Given the description of an element on the screen output the (x, y) to click on. 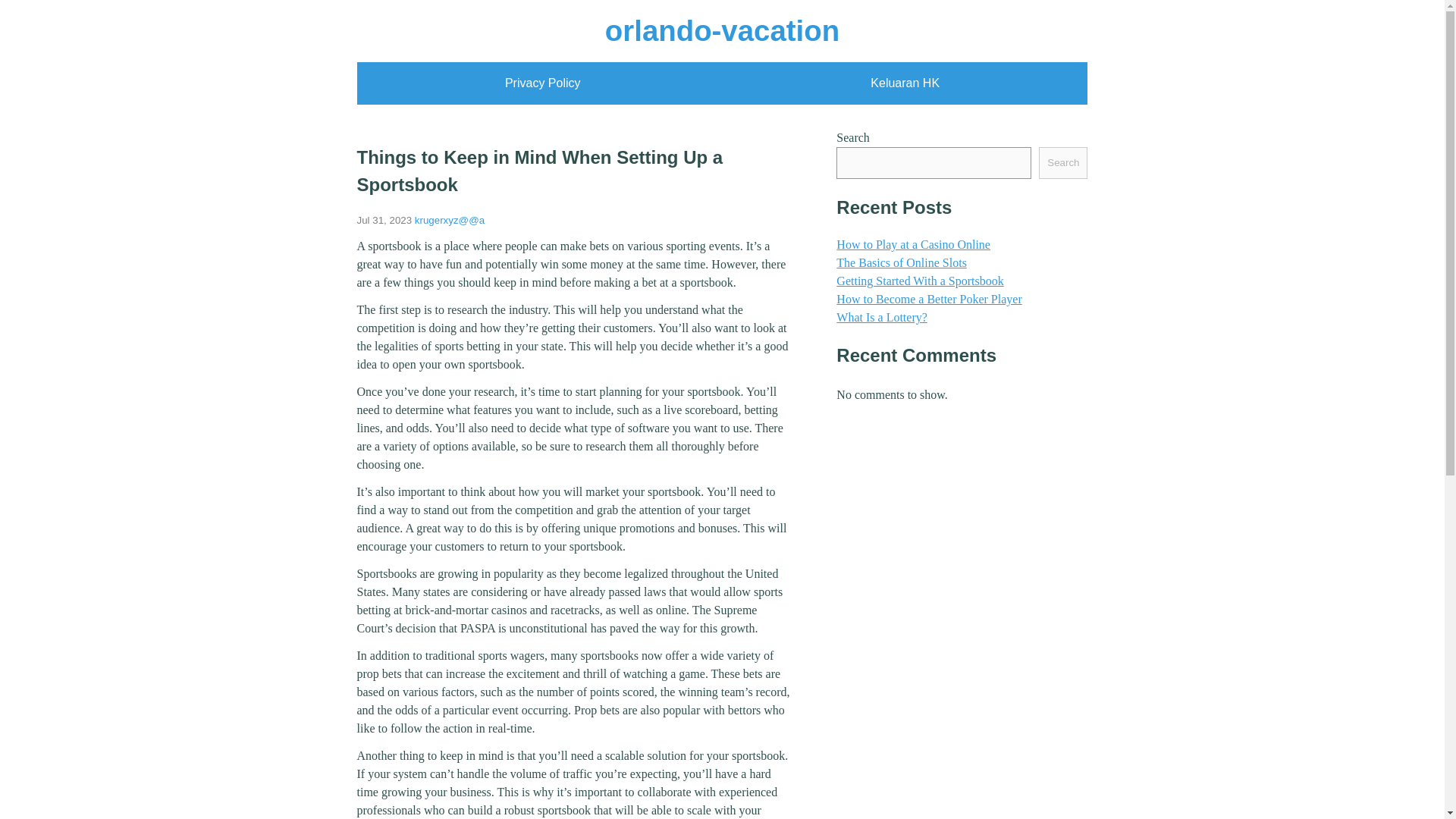
Privacy Policy (542, 82)
Search (1063, 163)
Keluaran HK (904, 82)
orlando-vacation (722, 30)
How to Play at a Casino Online (912, 244)
What Is a Lottery? (881, 317)
How to Become a Better Poker Player (928, 298)
Getting Started With a Sportsbook (919, 280)
The Basics of Online Slots (900, 262)
